Given the description of an element on the screen output the (x, y) to click on. 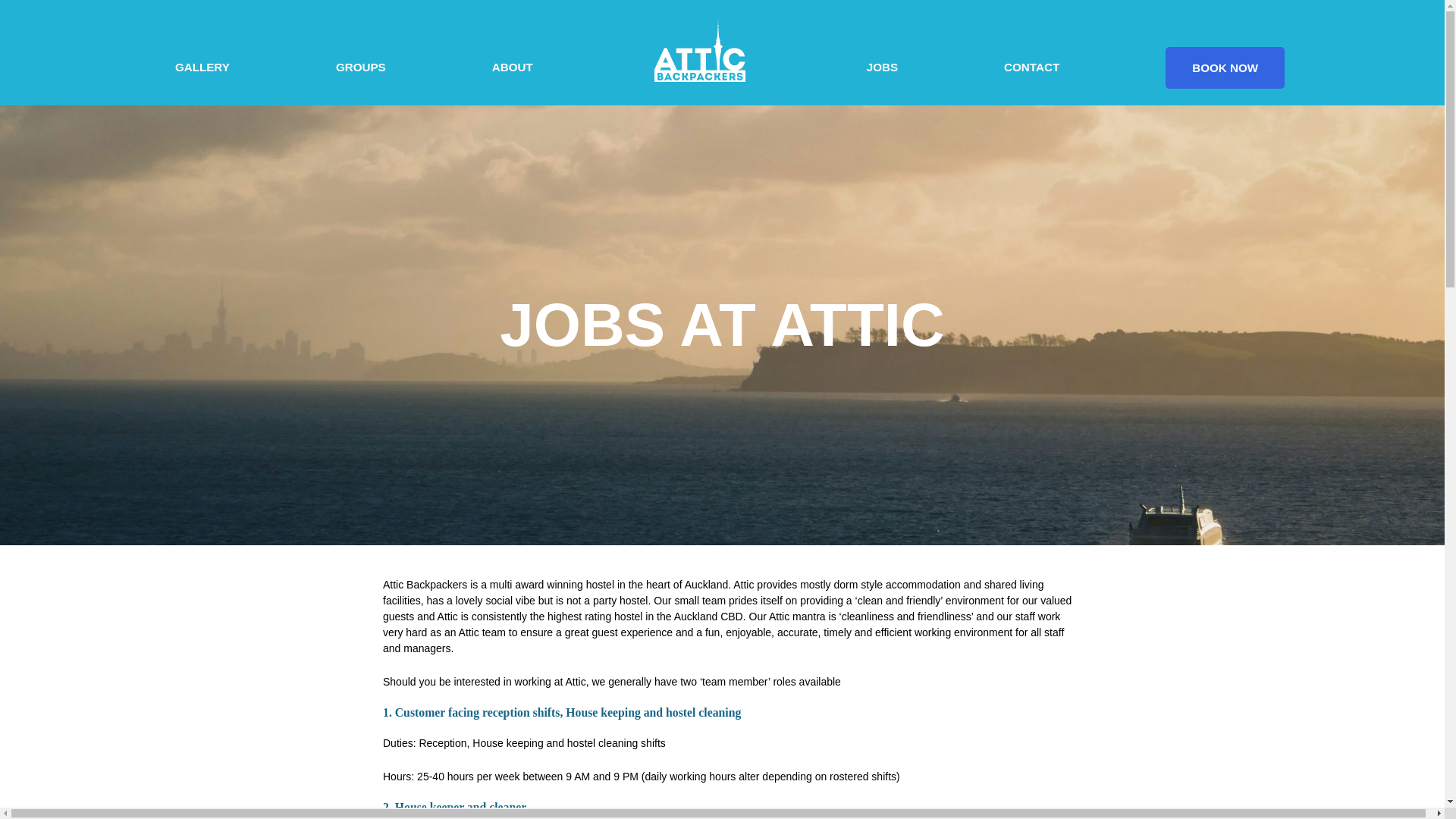
GROUPS (360, 67)
JOBS (881, 67)
CONTACT (1031, 67)
BOOK NOW (1225, 67)
ABOUT (512, 67)
GALLERY (202, 67)
